Given the description of an element on the screen output the (x, y) to click on. 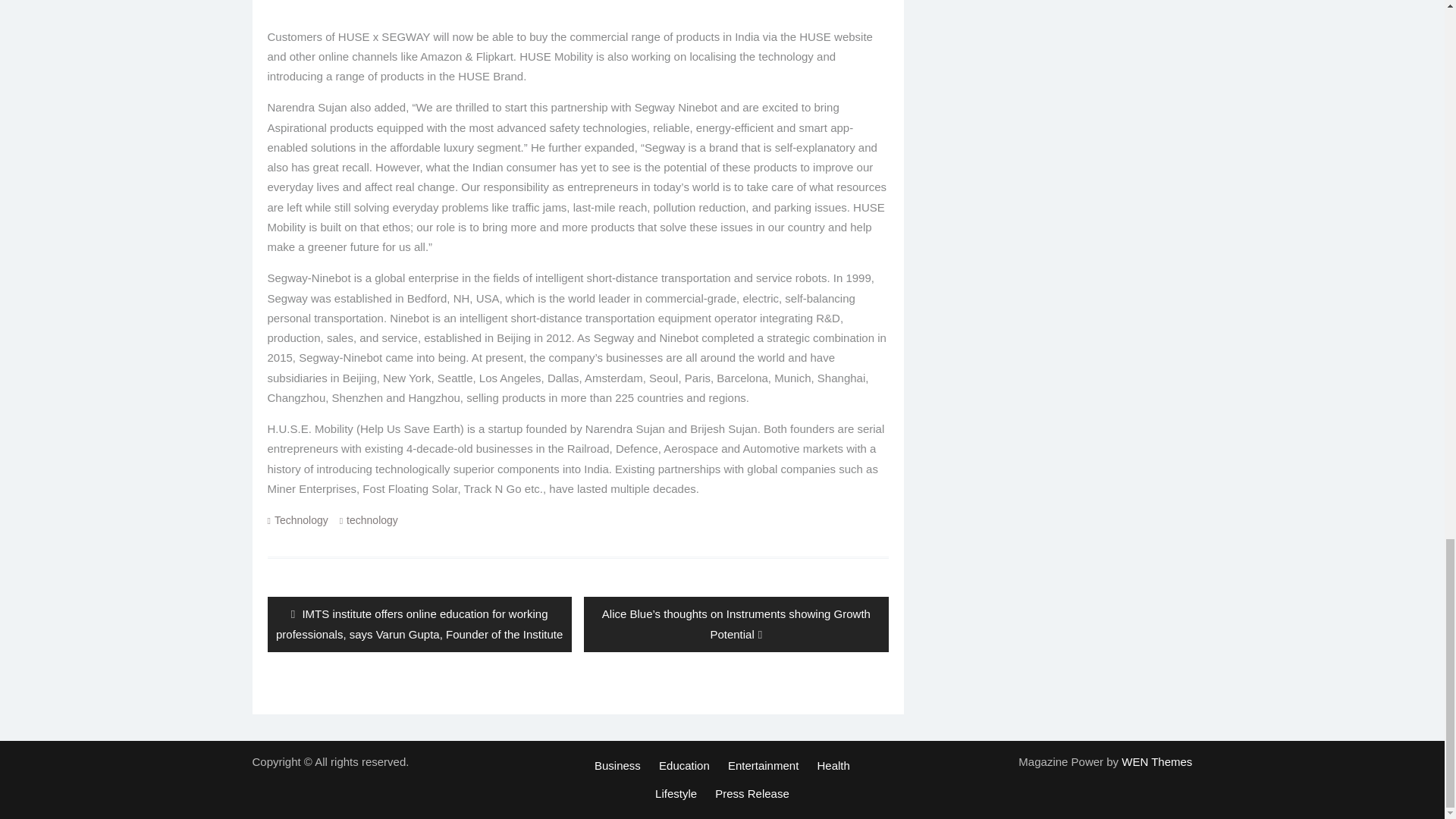
Technology (302, 520)
